Given the description of an element on the screen output the (x, y) to click on. 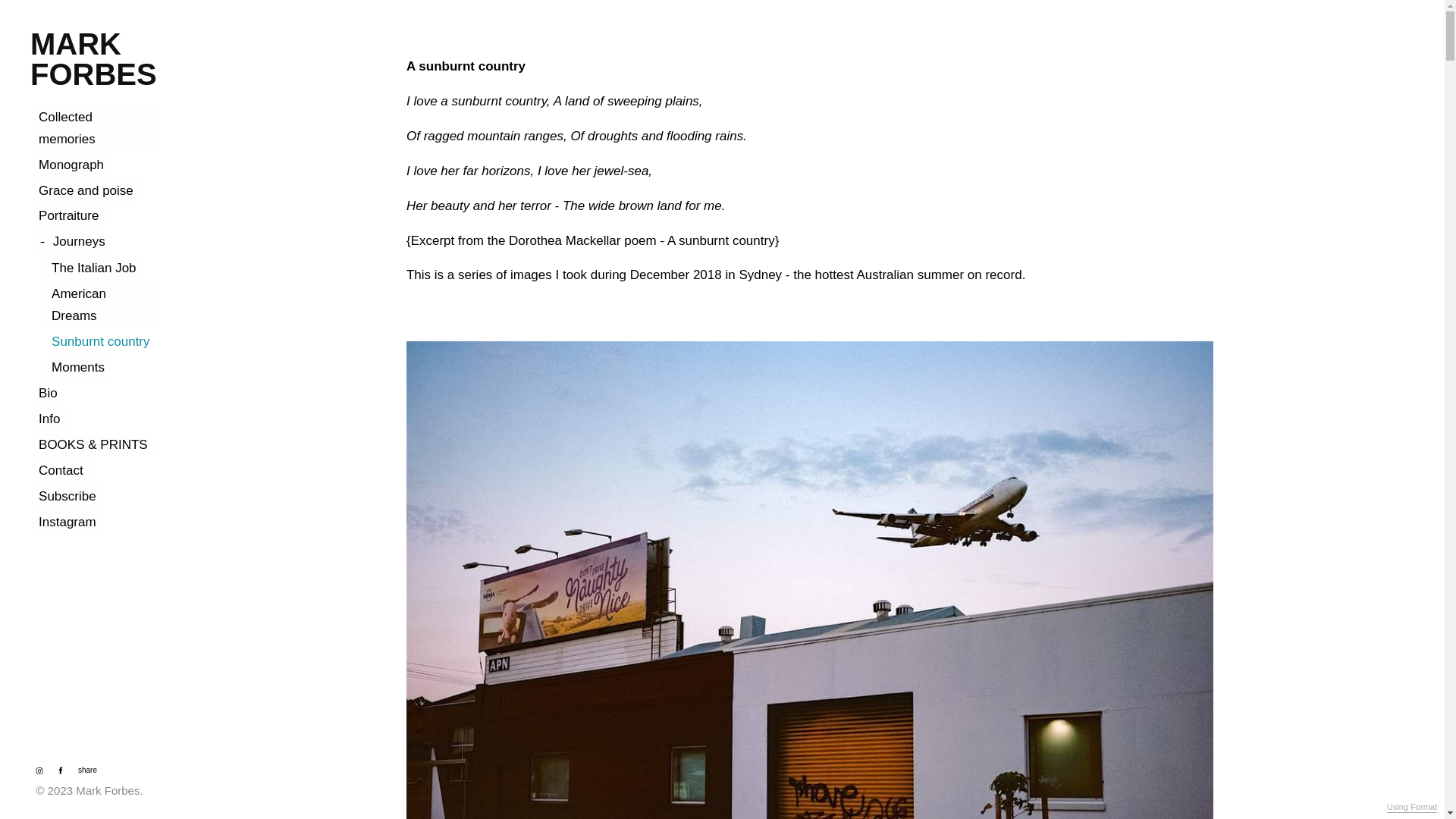
Monograph Element type: text (71, 165)
Collected memories Element type: text (95, 128)
American Dreams Element type: text (102, 305)
Grace and poise Element type: text (86, 191)
Portraiture Element type: text (68, 216)
Info Element type: text (49, 419)
Sunburnt country Element type: text (100, 342)
Journeys Element type: text (70, 242)
Moments Element type: text (78, 368)
Bio Element type: text (48, 393)
Using Format Element type: text (1411, 807)
The Italian Job Element type: text (94, 268)
BOOKS & PRINTS Element type: text (93, 445)
Instagram Element type: text (67, 522)
Contact Element type: text (61, 471)
Subscribe Element type: text (67, 497)
MARK FORBES Element type: text (95, 58)
share Element type: text (84, 770)
